Given the description of an element on the screen output the (x, y) to click on. 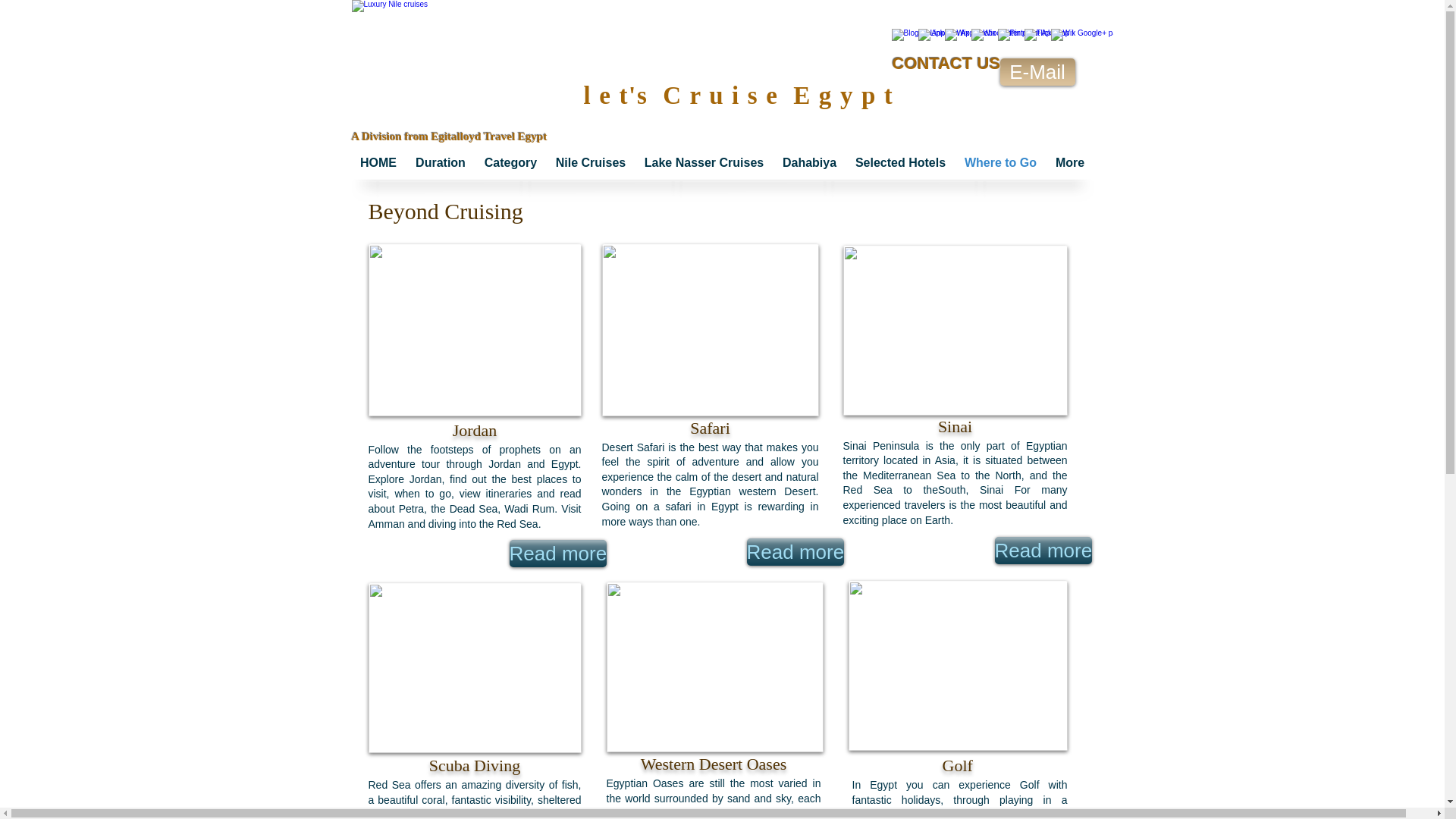
Duration (441, 162)
Untitled-2.gif (470, 71)
E-Mail (1036, 71)
Category (510, 162)
CONTACT US (945, 63)
Nile Cruises (590, 162)
A Division from Egitalloyd Travel Egypt (449, 136)
Twitter Follow (951, 81)
HOME (378, 162)
Lake Nasser Cruises (703, 162)
Dahabiya (809, 162)
